Given the description of an element on the screen output the (x, y) to click on. 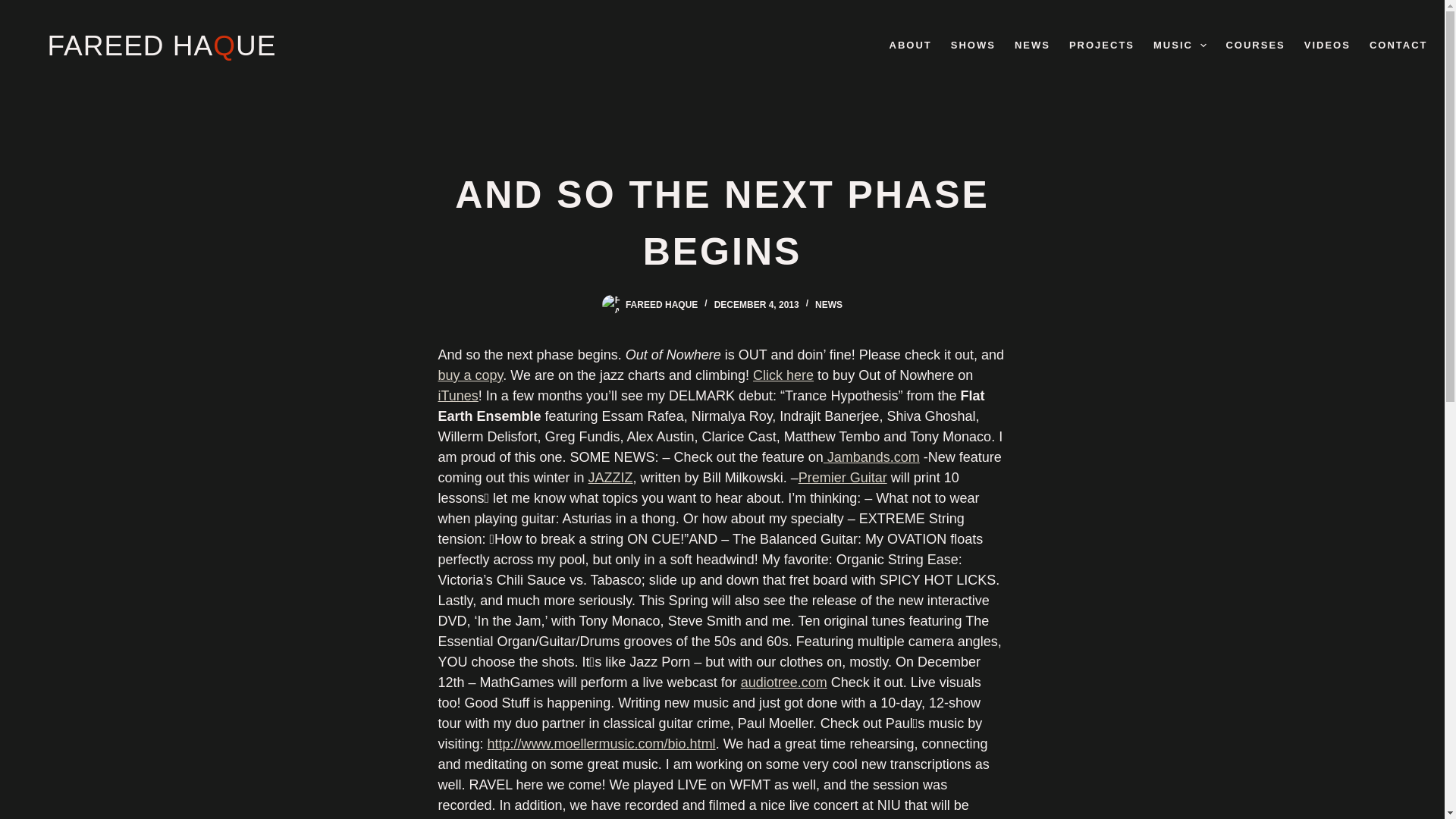
ABOUT (909, 45)
And So The Next Phase Begins (722, 223)
Skip to content (15, 7)
Click here (782, 375)
PROJECTS (1100, 45)
Posts by Fareed Haque (661, 304)
COURSES (1254, 45)
FAREED HAQUE (161, 45)
Jambands.com (872, 457)
SHOWS (972, 45)
